Given the description of an element on the screen output the (x, y) to click on. 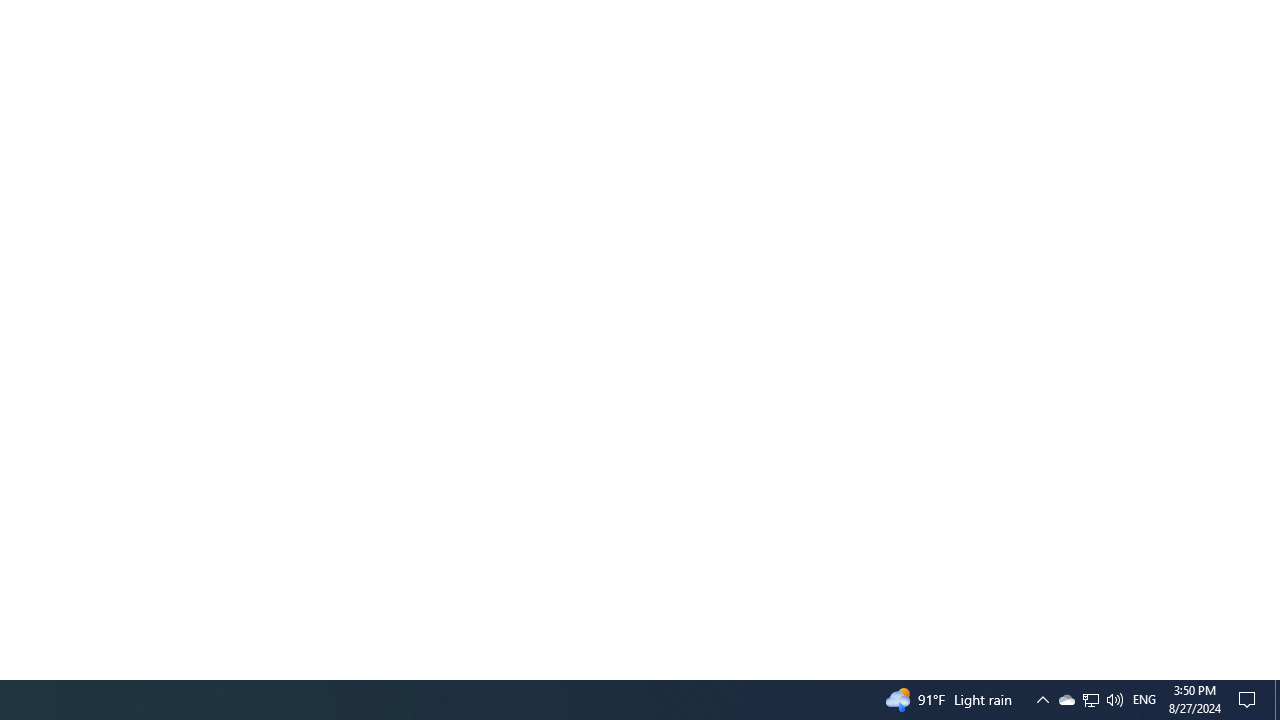
Show desktop (1277, 699)
User Promoted Notification Area (1090, 699)
Notification Chevron (1066, 699)
Action Center, No new notifications (1042, 699)
Q2790: 100% (1250, 699)
Tray Input Indicator - English (United States) (1114, 699)
